Given the description of an element on the screen output the (x, y) to click on. 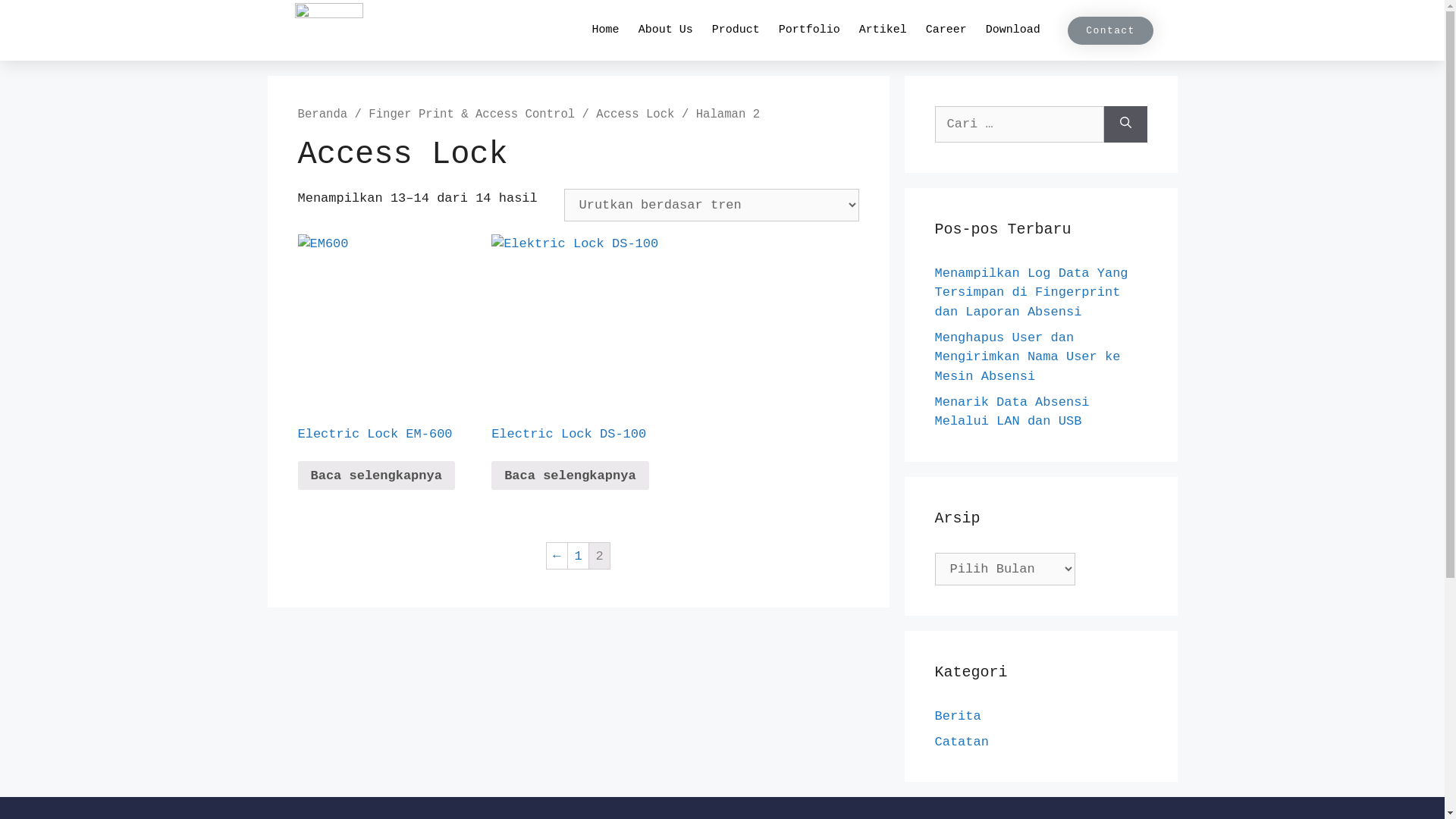
Access Lock Element type: text (635, 114)
Product Element type: text (735, 30)
Menghapus User dan Mengirimkan Nama User ke Mesin Absensi Element type: text (1027, 356)
1 Element type: text (577, 555)
Portfolio Element type: text (809, 30)
Catatan Element type: text (961, 741)
Download Element type: text (1013, 30)
Menarik Data Absensi Melalui LAN dan USB Element type: text (1011, 411)
Home Element type: text (605, 30)
Finger Print & Access Control Element type: text (471, 114)
Berita Element type: text (957, 715)
Contact Element type: text (1109, 30)
Baca selengkapnya Element type: text (569, 475)
Beranda Element type: text (322, 114)
Baca selengkapnya Element type: text (375, 475)
Electric Lock DS-100 Element type: text (577, 358)
Electric Lock EM-600 Element type: text (383, 358)
About Us Element type: text (665, 30)
Cari untuk: Element type: hover (1018, 124)
Artikel Element type: text (882, 30)
Career Element type: text (946, 30)
